Given the description of an element on the screen output the (x, y) to click on. 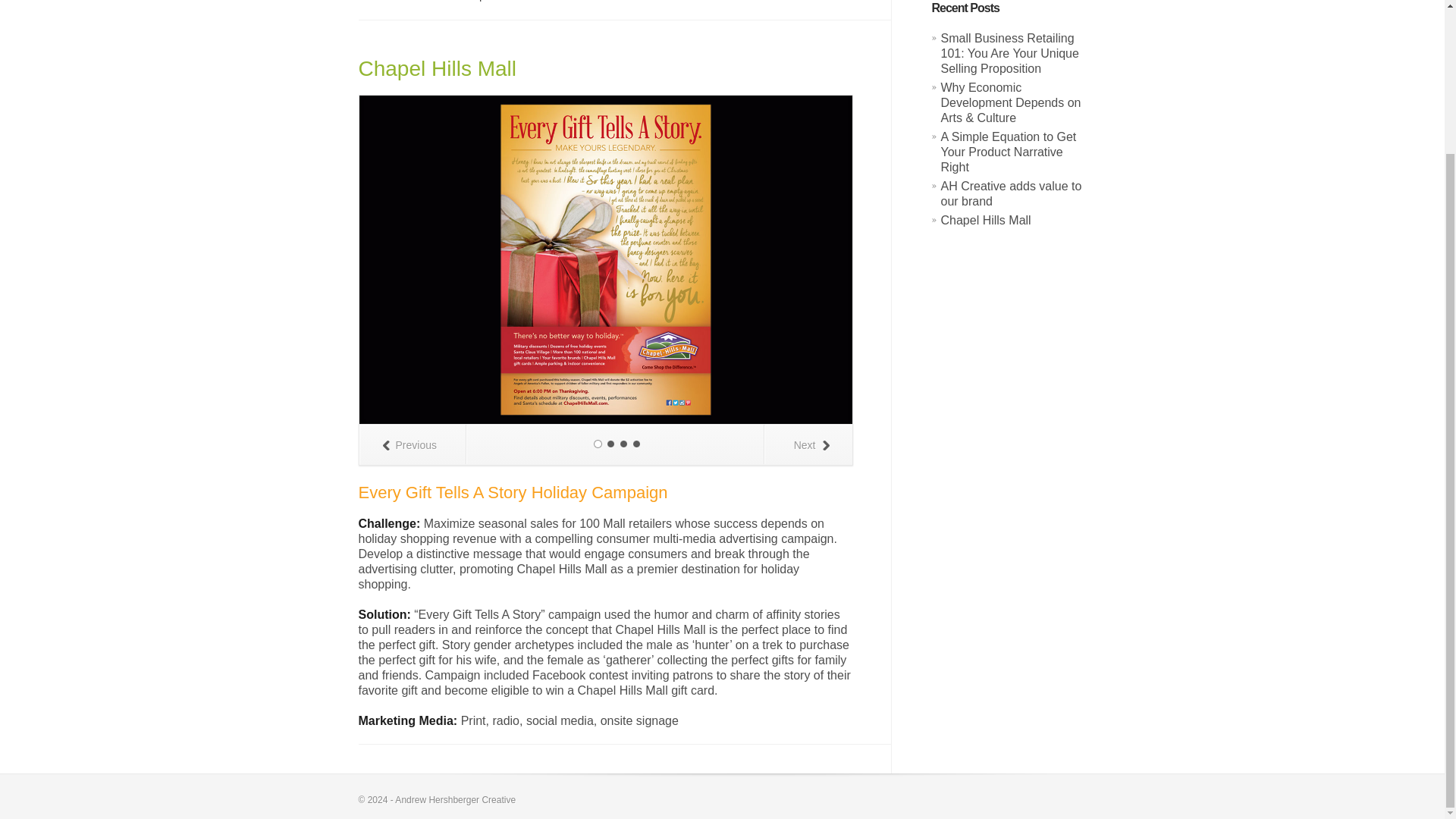
Home (371, 0)
Previous (412, 444)
Chapel Hills Mall (985, 219)
A Simple Equation to Get Your Product Narrative Right (1007, 151)
Next (807, 444)
case studies (422, 0)
AH Creative adds value to our brand (1010, 193)
